Given the description of an element on the screen output the (x, y) to click on. 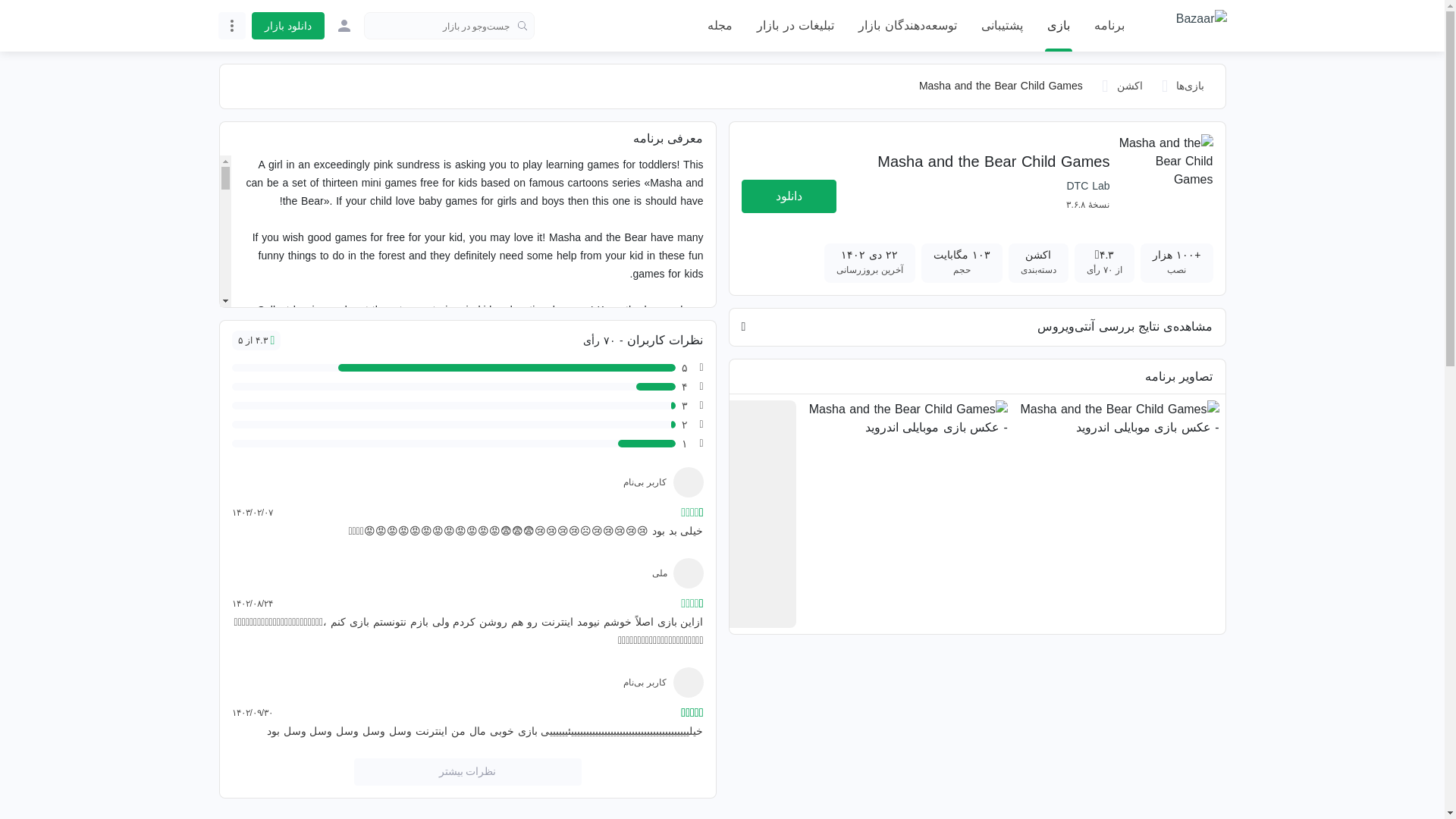
DTC Lab (1087, 185)
